Given the description of an element on the screen output the (x, y) to click on. 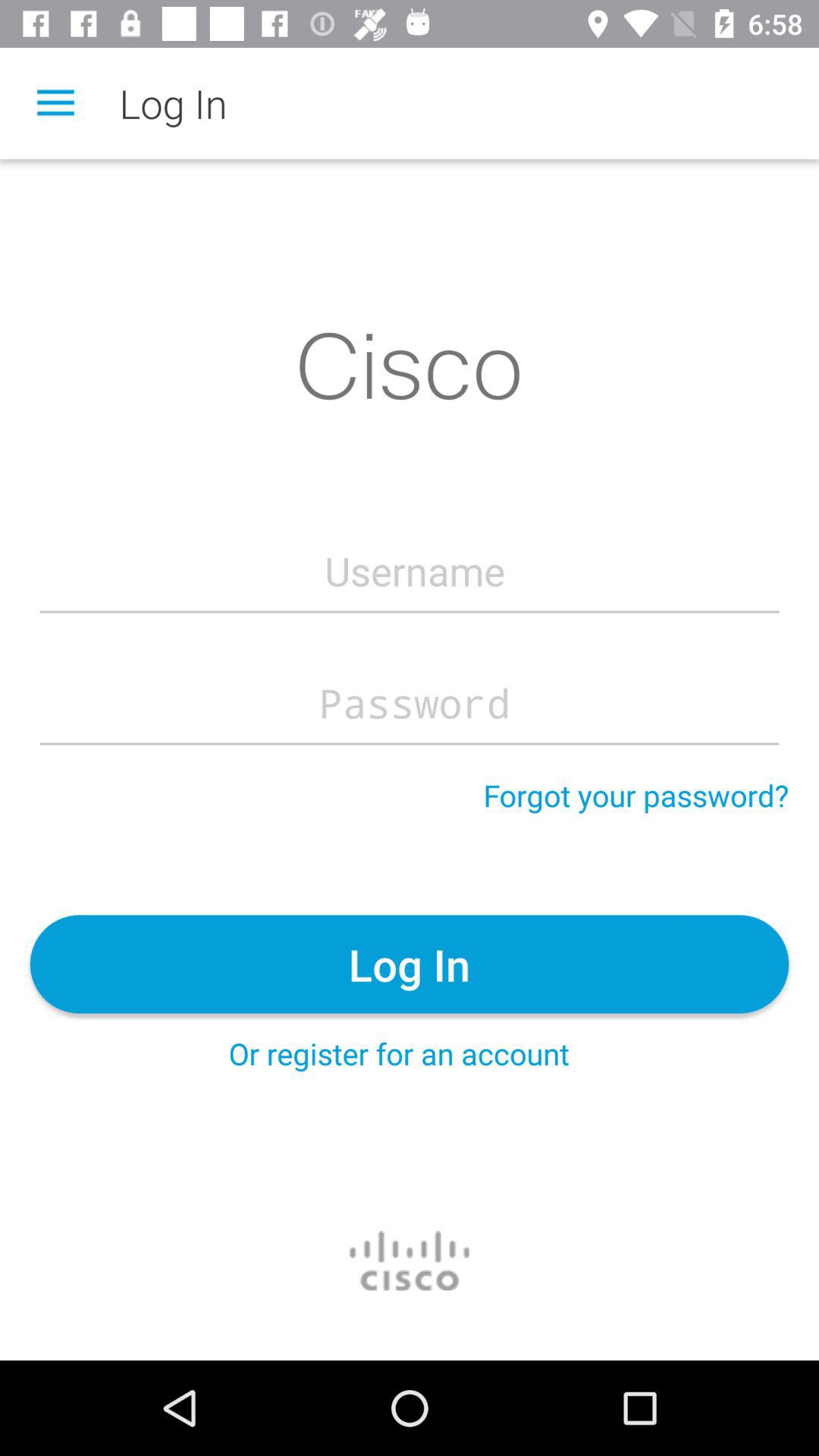
launch app to the left of the log in (55, 103)
